Given the description of an element on the screen output the (x, y) to click on. 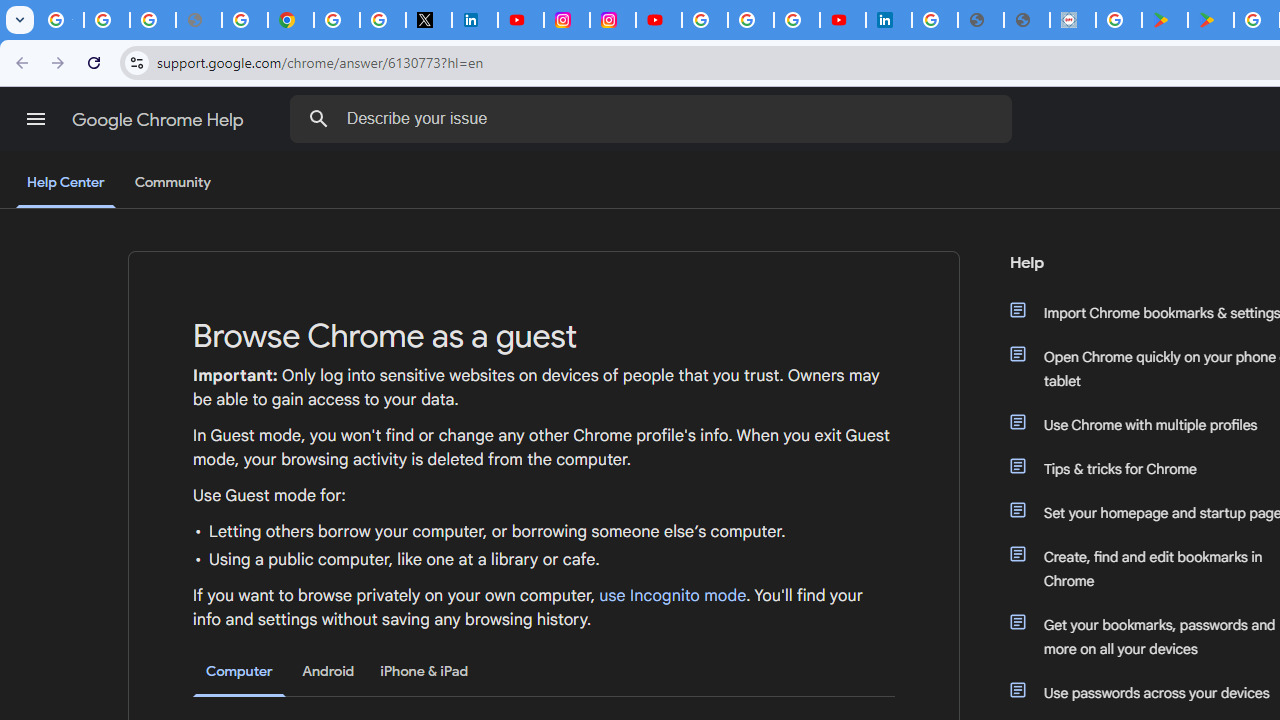
Sign in - Google Accounts (336, 20)
PAW Patrol Rescue World - Apps on Google Play (1210, 20)
Help Center (65, 183)
Sign in - Google Accounts (705, 20)
Community (171, 183)
support.google.com - Network error (198, 20)
Main menu (35, 119)
